Given the description of an element on the screen output the (x, y) to click on. 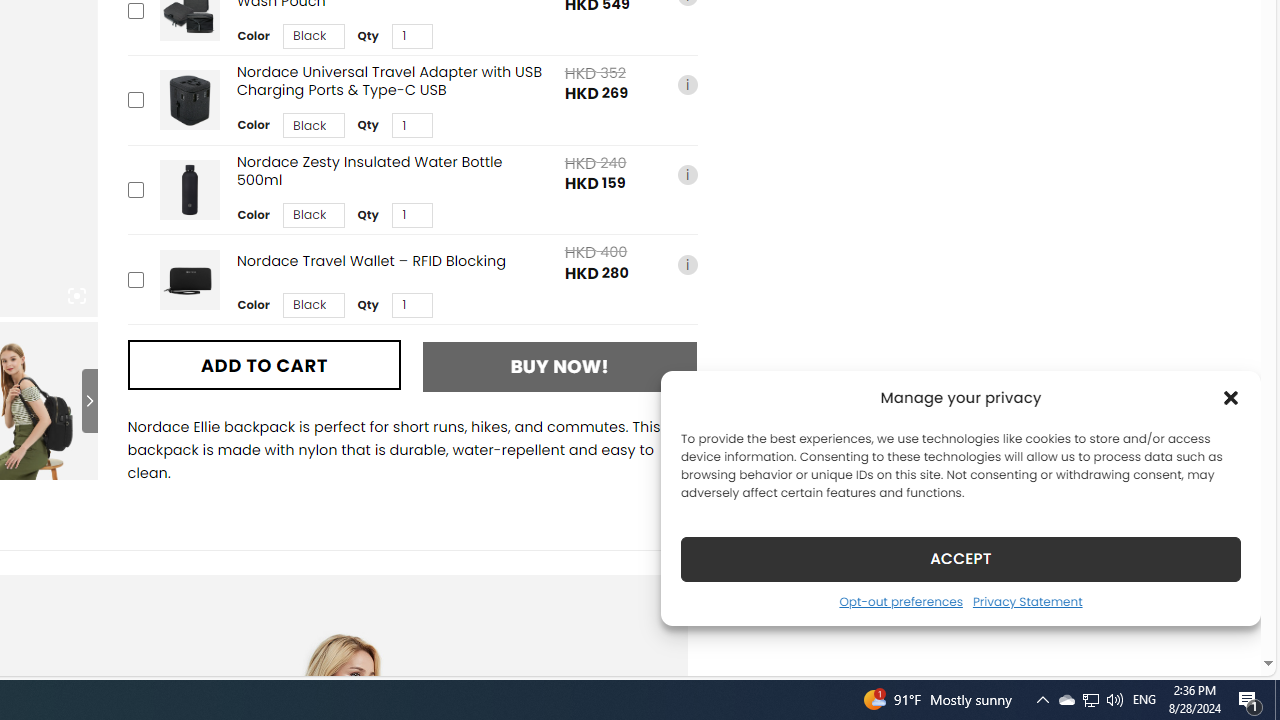
Class: iconic-woothumbs-fullscreen (75, 296)
Opt-out preferences (900, 601)
Action Center, 1 new notification (1066, 699)
Class: cmplz-close (1250, 699)
Notification Chevron (1231, 397)
